Given the description of an element on the screen output the (x, y) to click on. 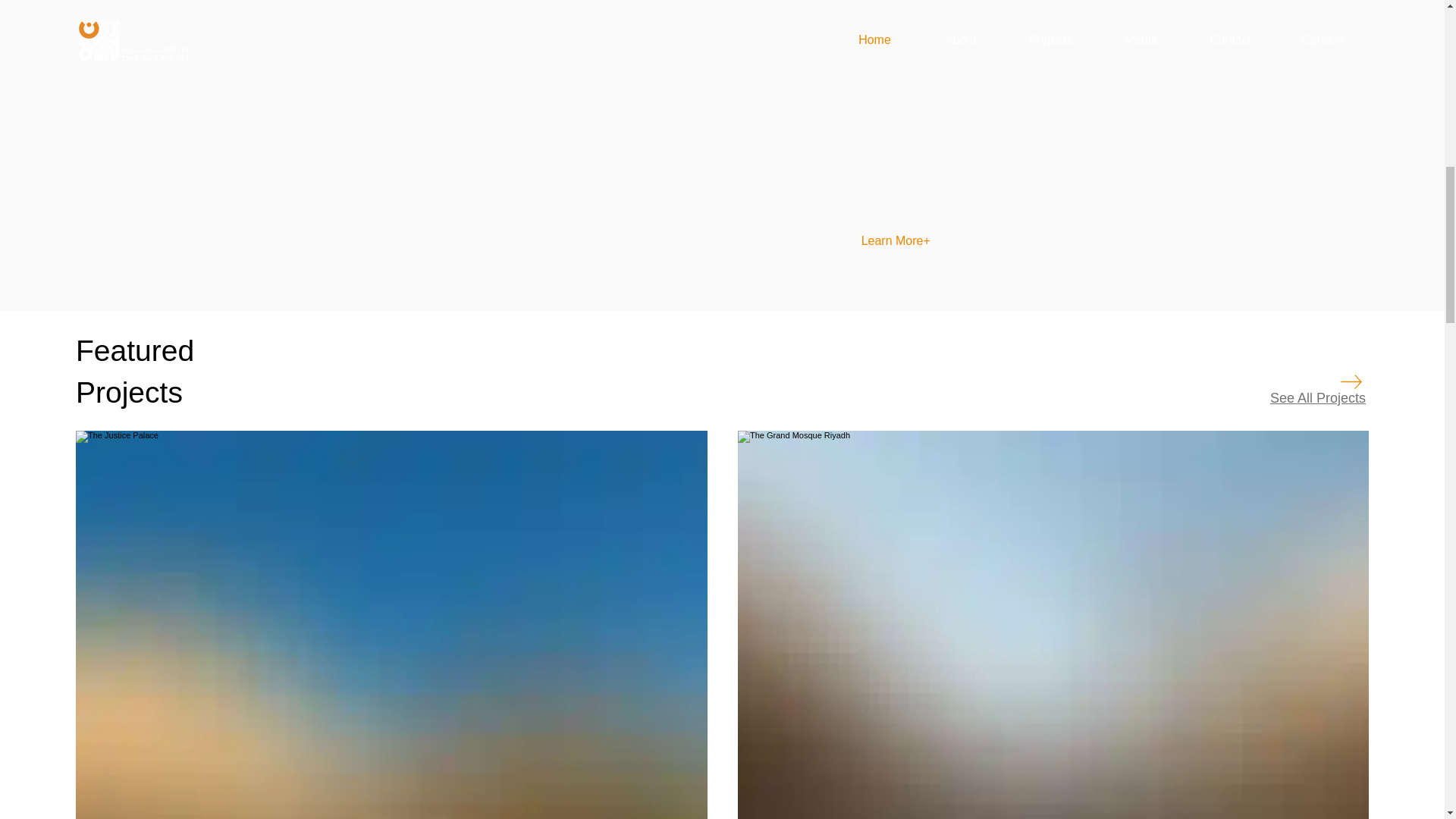
See All Projects (1317, 397)
